Given the description of an element on the screen output the (x, y) to click on. 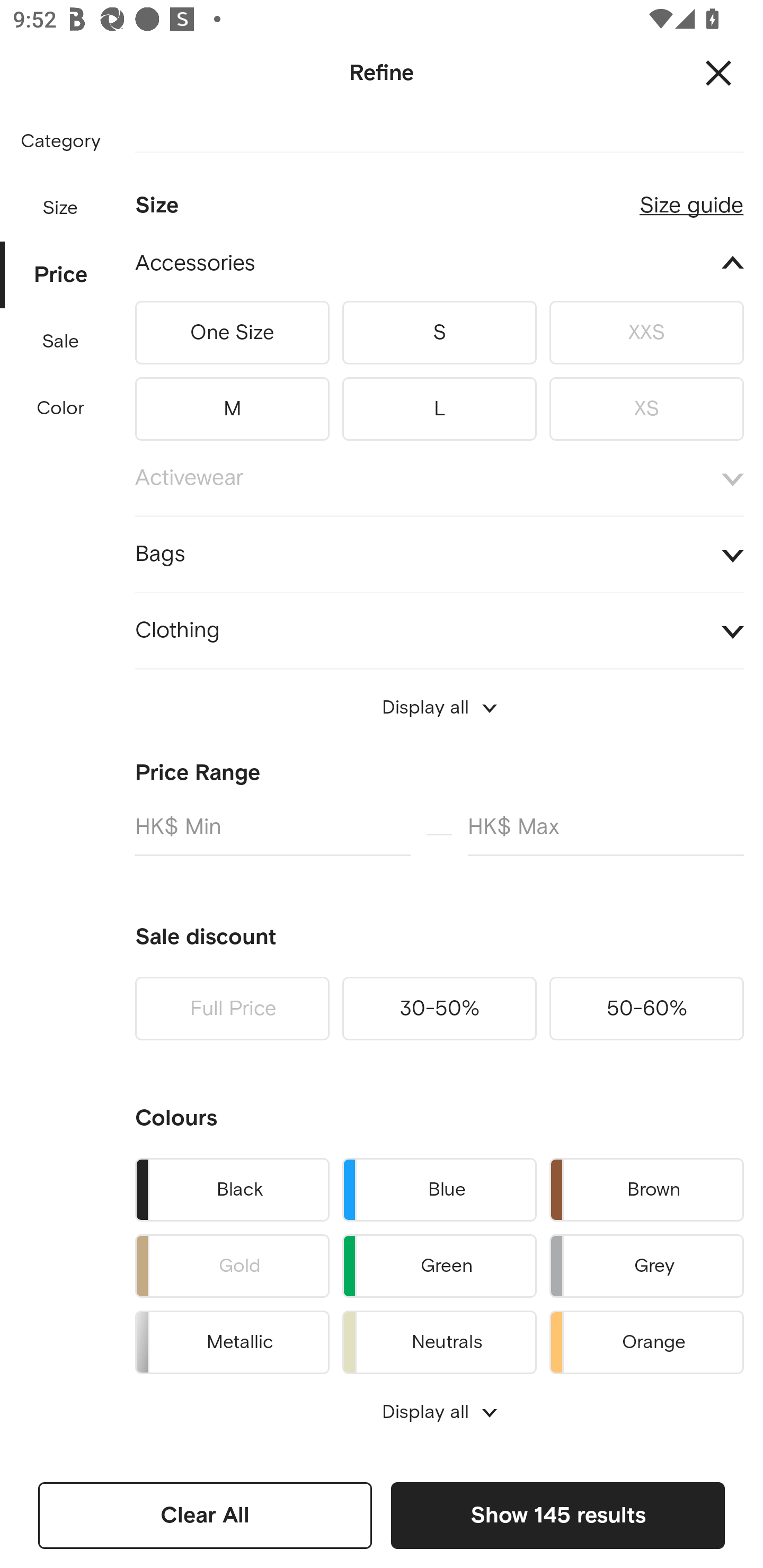
Category (60, 141)
Size (60, 208)
Size guide (691, 197)
Accessories (439, 263)
Price (60, 274)
One Size (232, 332)
S (439, 332)
XXS (646, 332)
Sale (60, 342)
Color (60, 408)
M (232, 405)
L (439, 405)
XS (646, 405)
Activewear (439, 477)
Bags (439, 553)
Clothing (439, 630)
Display all (439, 707)
HK$ Min (272, 833)
HK$ Max (605, 833)
Full Price (232, 1008)
30-50% (439, 1008)
50-60% (646, 1008)
Black (232, 1188)
Blue (439, 1188)
Brown (646, 1188)
Gold (232, 1265)
Green (439, 1265)
Grey (646, 1265)
Metallic (232, 1338)
Neutrals (439, 1338)
Orange (646, 1338)
Display all (439, 1411)
Clear All (205, 1515)
Show 145 results (557, 1515)
